Given the description of an element on the screen output the (x, y) to click on. 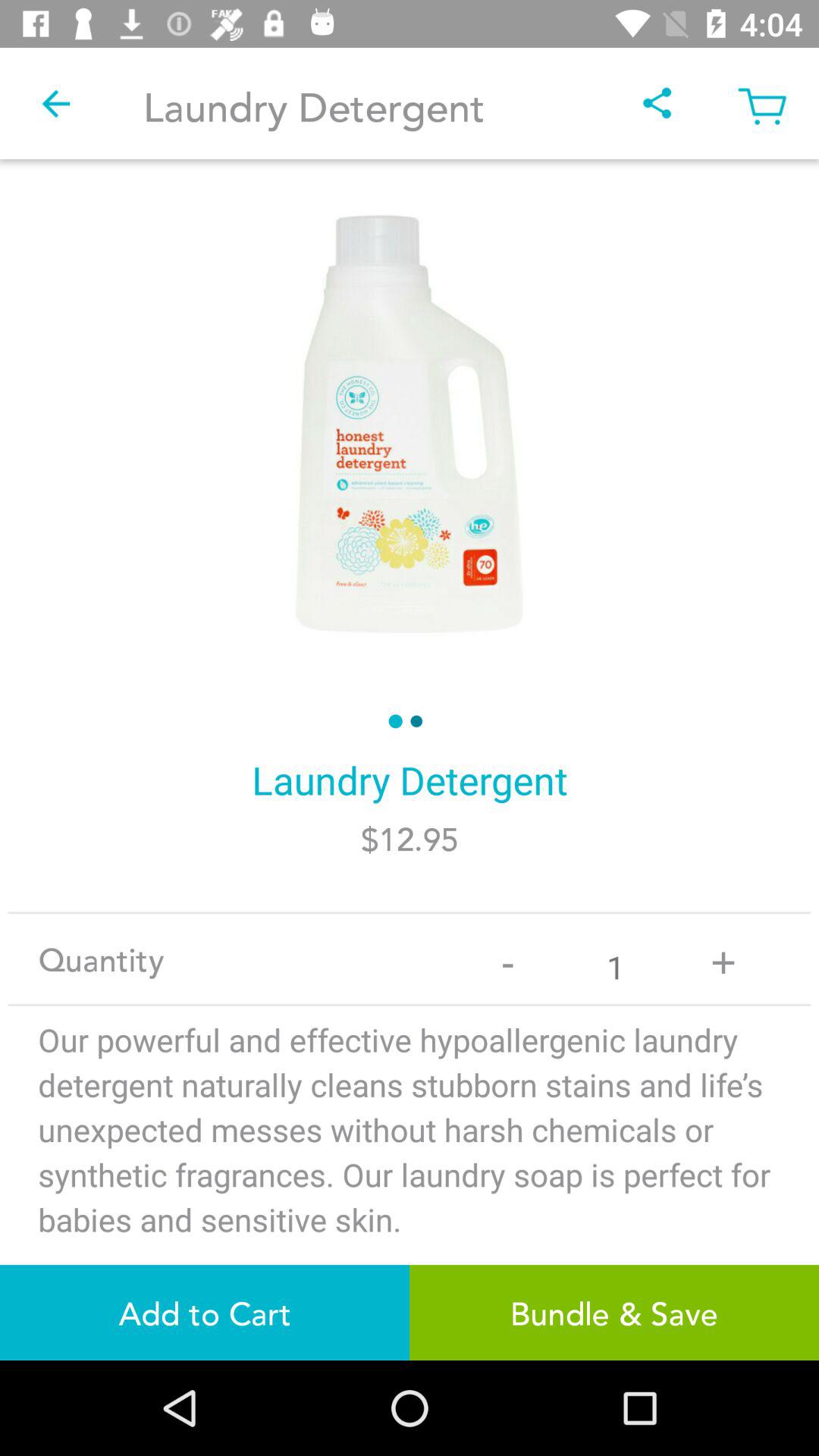
scroll until - icon (507, 958)
